Given the description of an element on the screen output the (x, y) to click on. 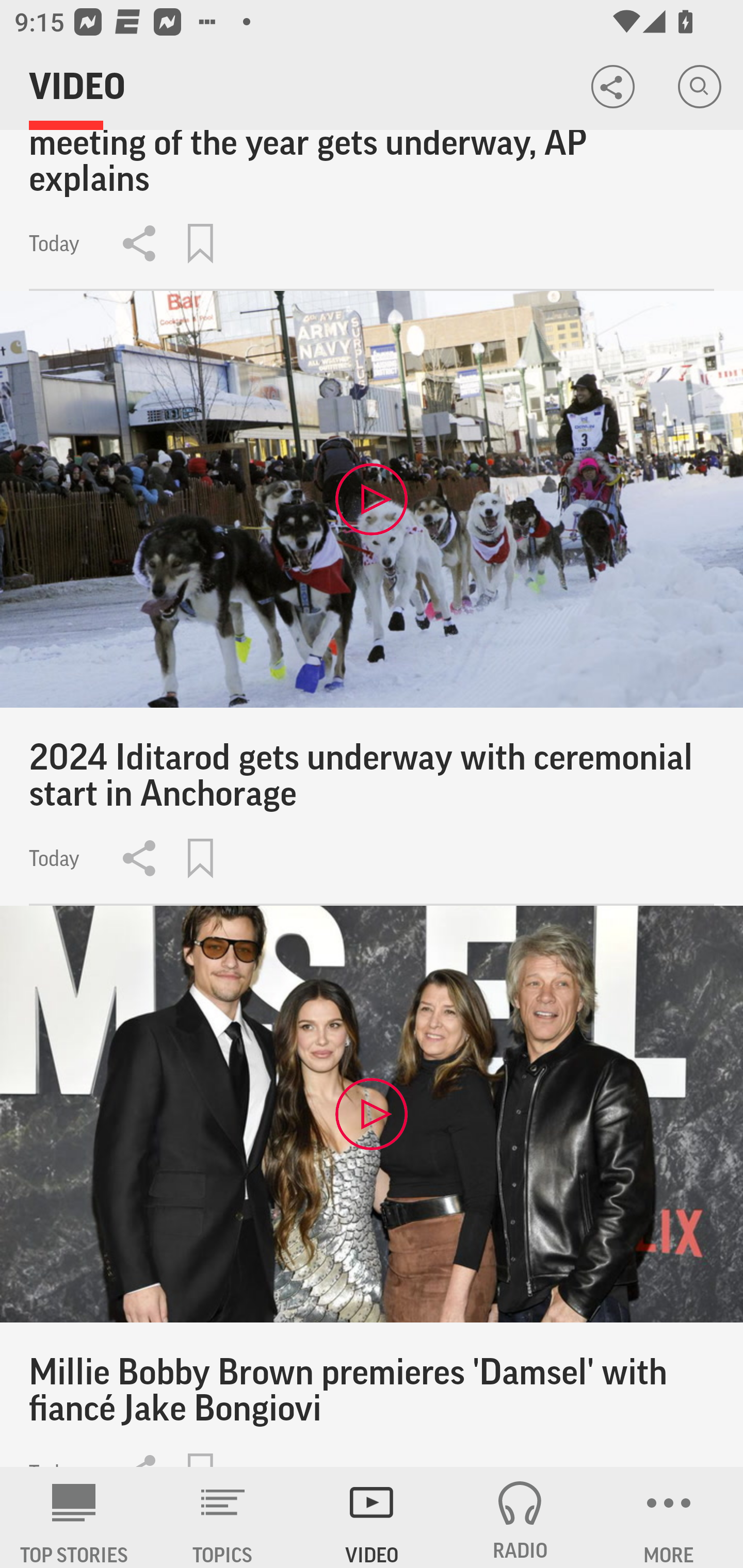
AP News TOP STORIES (74, 1517)
TOPICS (222, 1517)
VIDEO (371, 1517)
RADIO (519, 1517)
MORE (668, 1517)
